Given the description of an element on the screen output the (x, y) to click on. 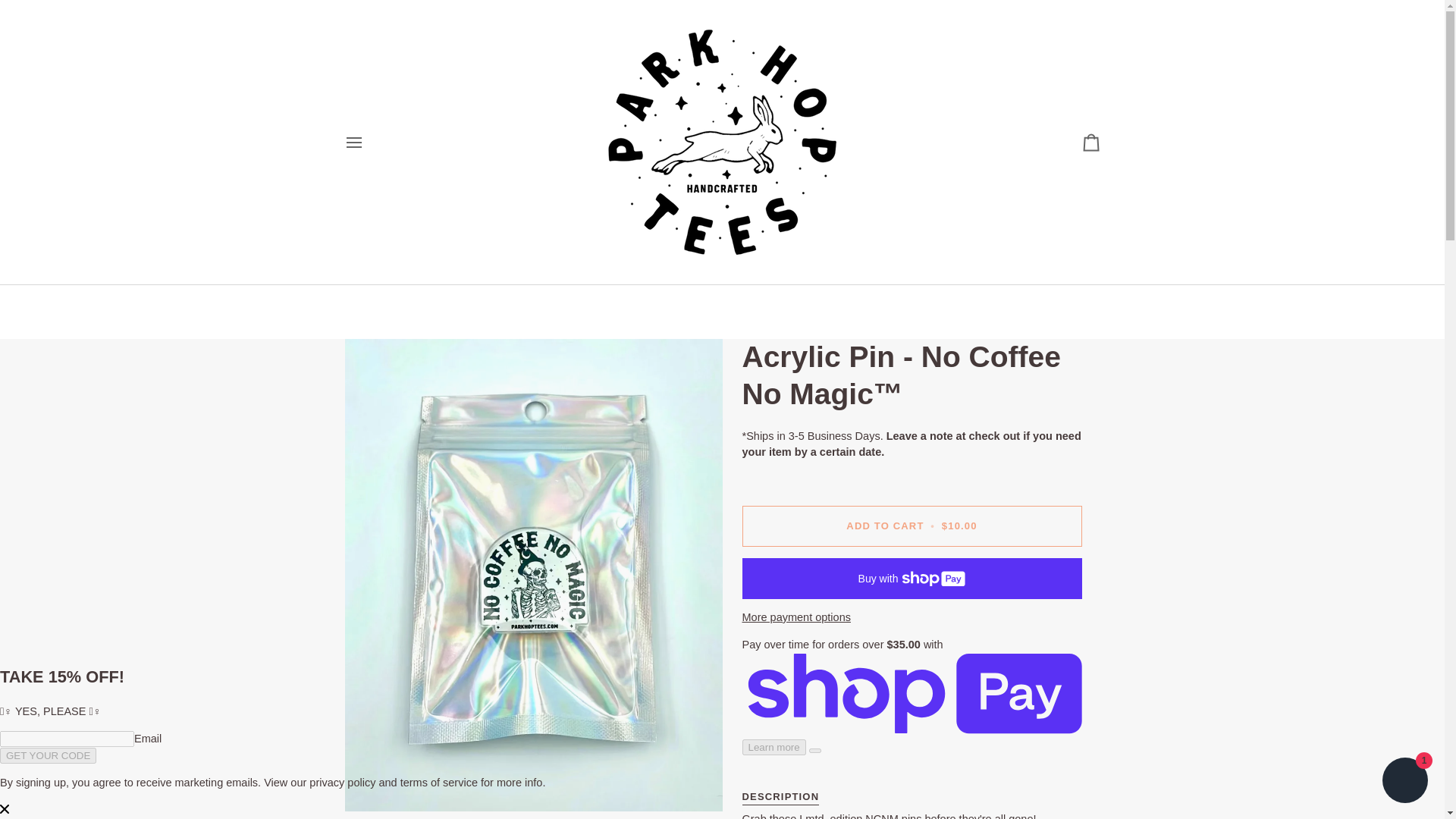
DESCRIPTION (779, 793)
More payment options (911, 617)
